Given the description of an element on the screen output the (x, y) to click on. 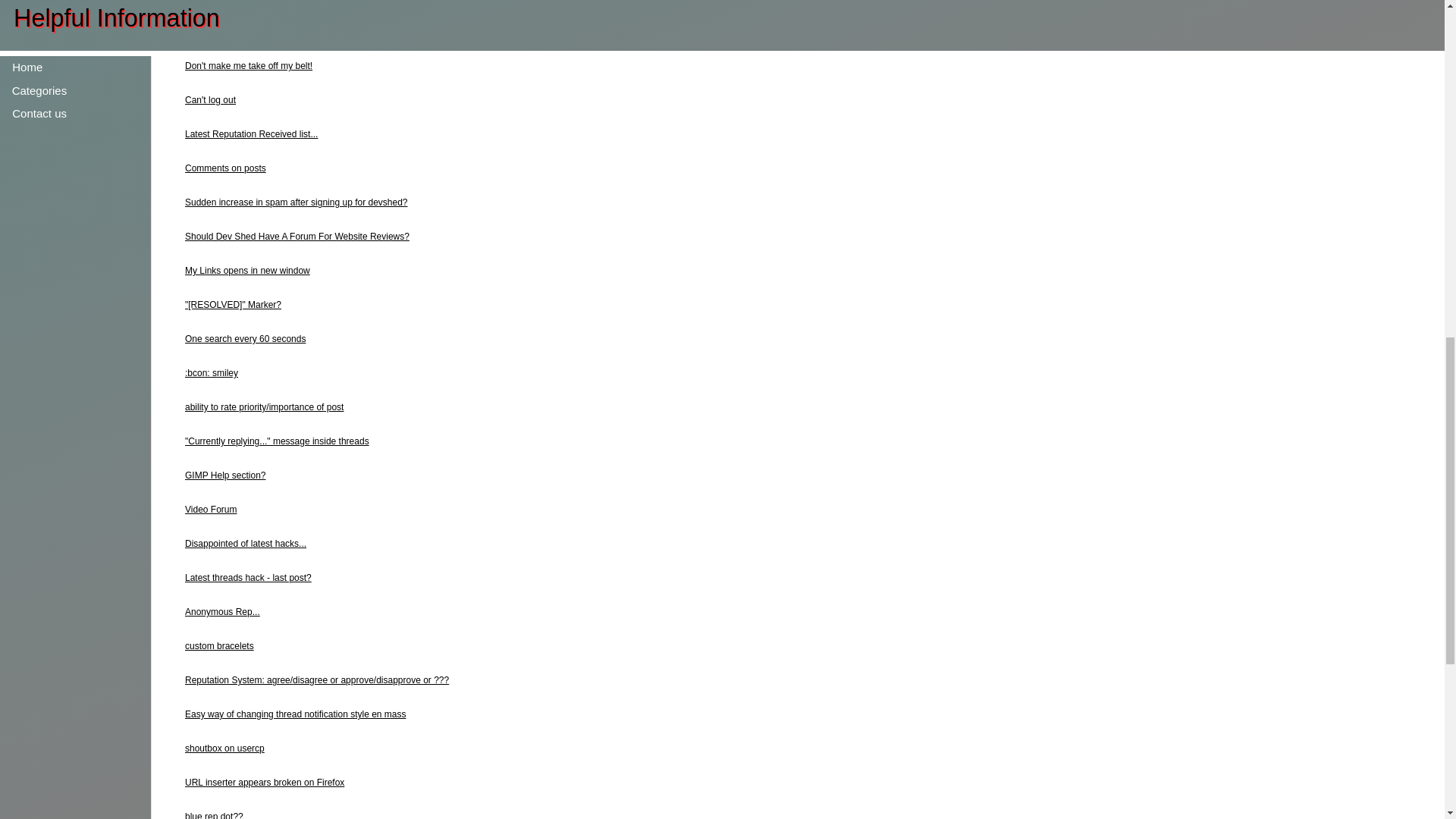
"Currently replying..." message inside threads (276, 440)
Should Dev Shed Have A Forum For Website Reviews? (296, 235)
Latest Reputation Received list... (250, 133)
Display username giving you rep points in user cp list (291, 31)
Sudden increase in spam after signing up for devshed? (295, 202)
One search every 60 seconds (244, 338)
:bcon: smiley (211, 372)
My Links opens in new window (247, 270)
Petition to remove (221, 1)
Don't make me take off my belt! (248, 65)
Can't log out (209, 100)
Comments on posts (225, 167)
